Given the description of an element on the screen output the (x, y) to click on. 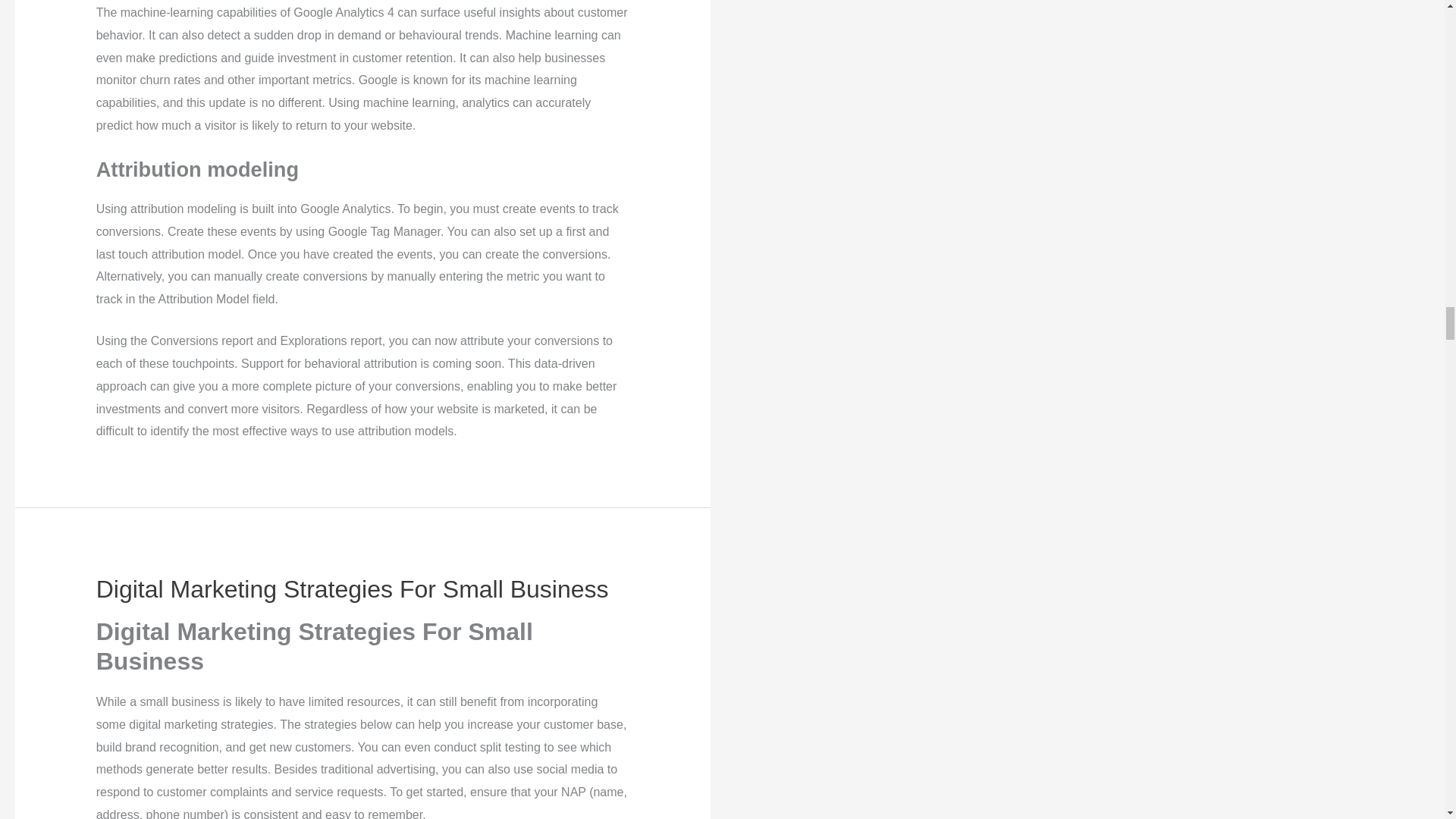
Digital Marketing Strategies For Small Business (352, 588)
